Given the description of an element on the screen output the (x, y) to click on. 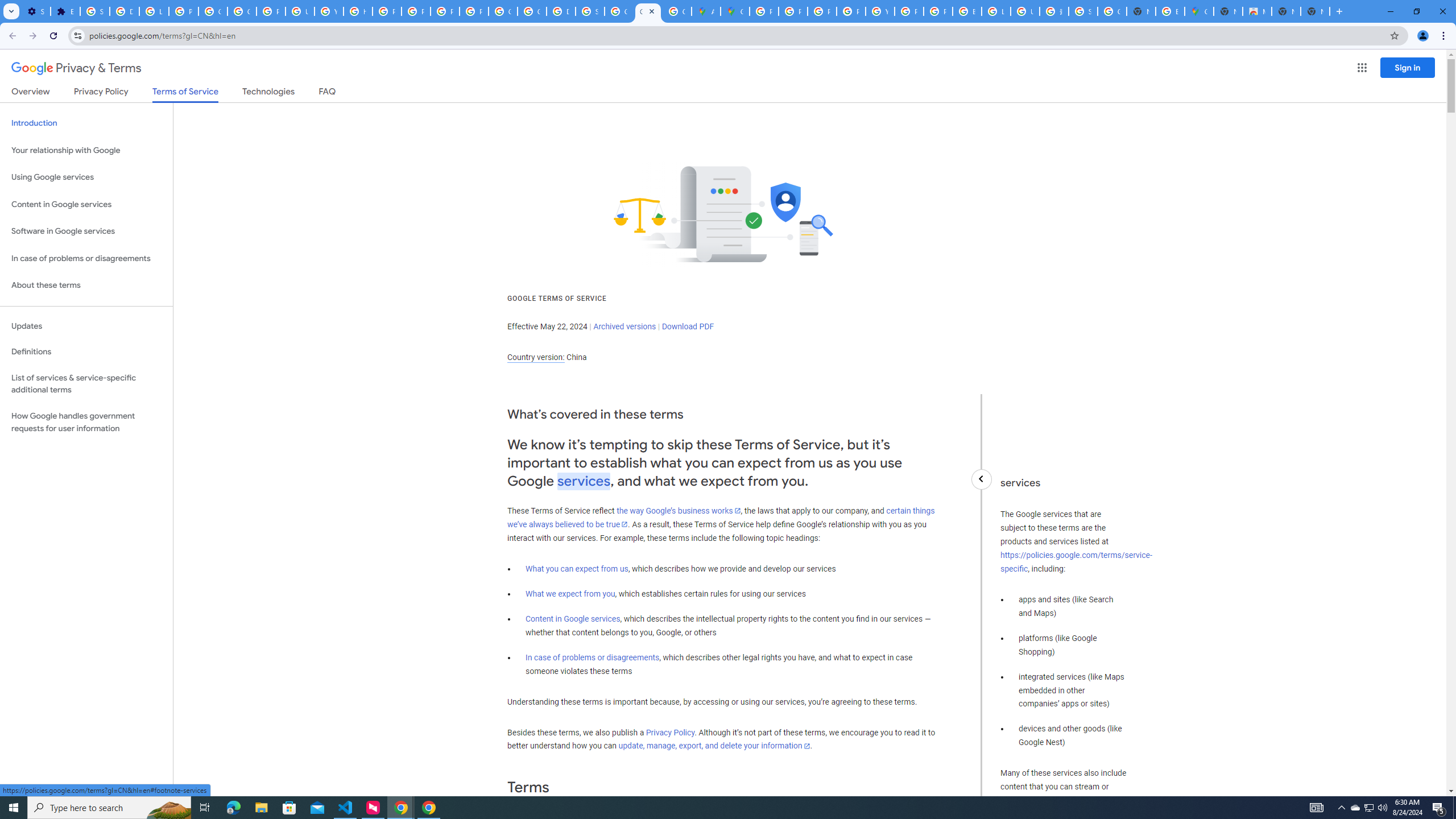
What we expect from you (570, 593)
Privacy Help Center - Policies Help (792, 11)
Sign in - Google Accounts (590, 11)
Google Maps (1198, 11)
Privacy Help Center - Policies Help (821, 11)
